Given the description of an element on the screen output the (x, y) to click on. 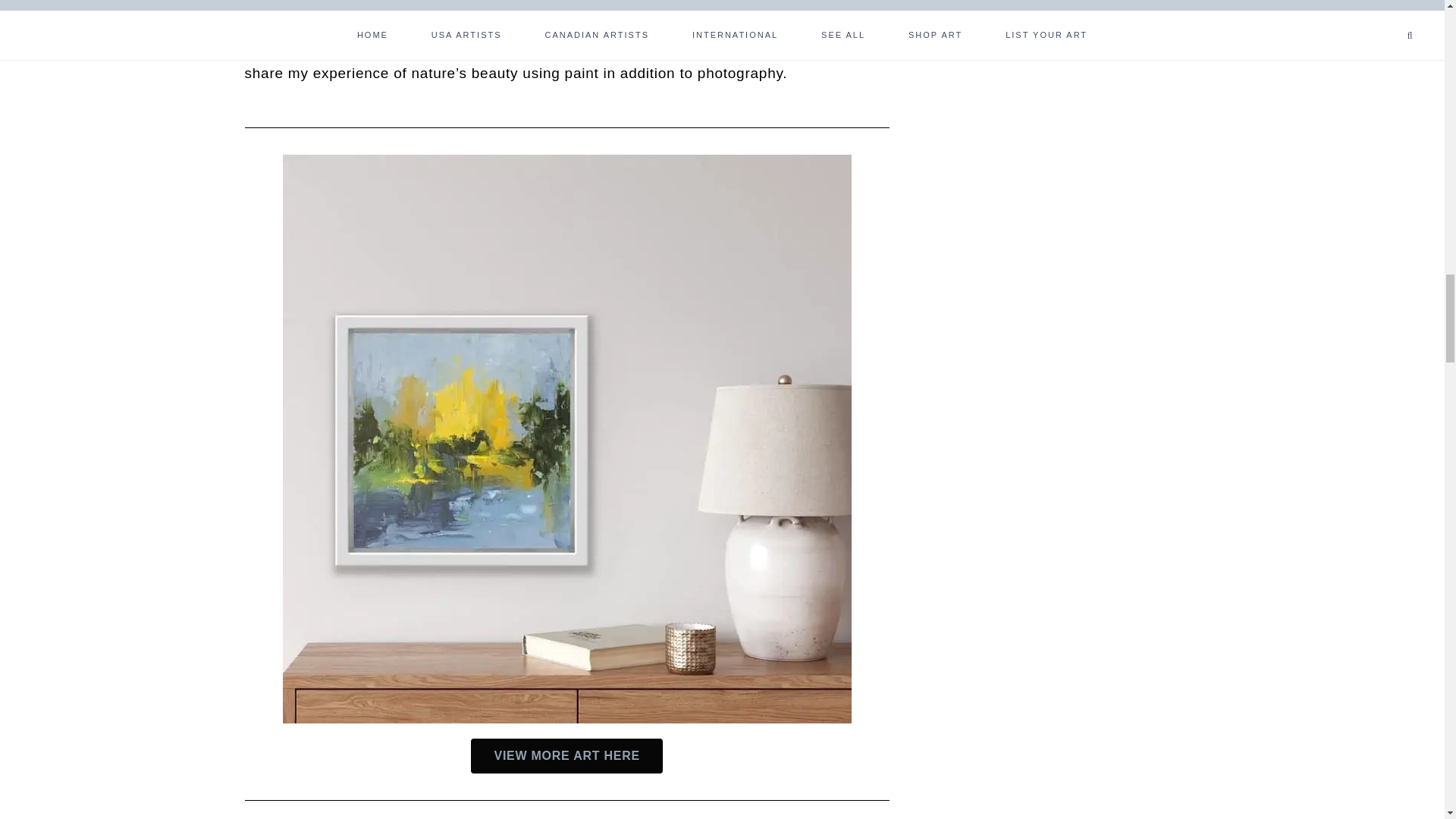
VIEW MORE ART HERE (566, 755)
